Given the description of an element on the screen output the (x, y) to click on. 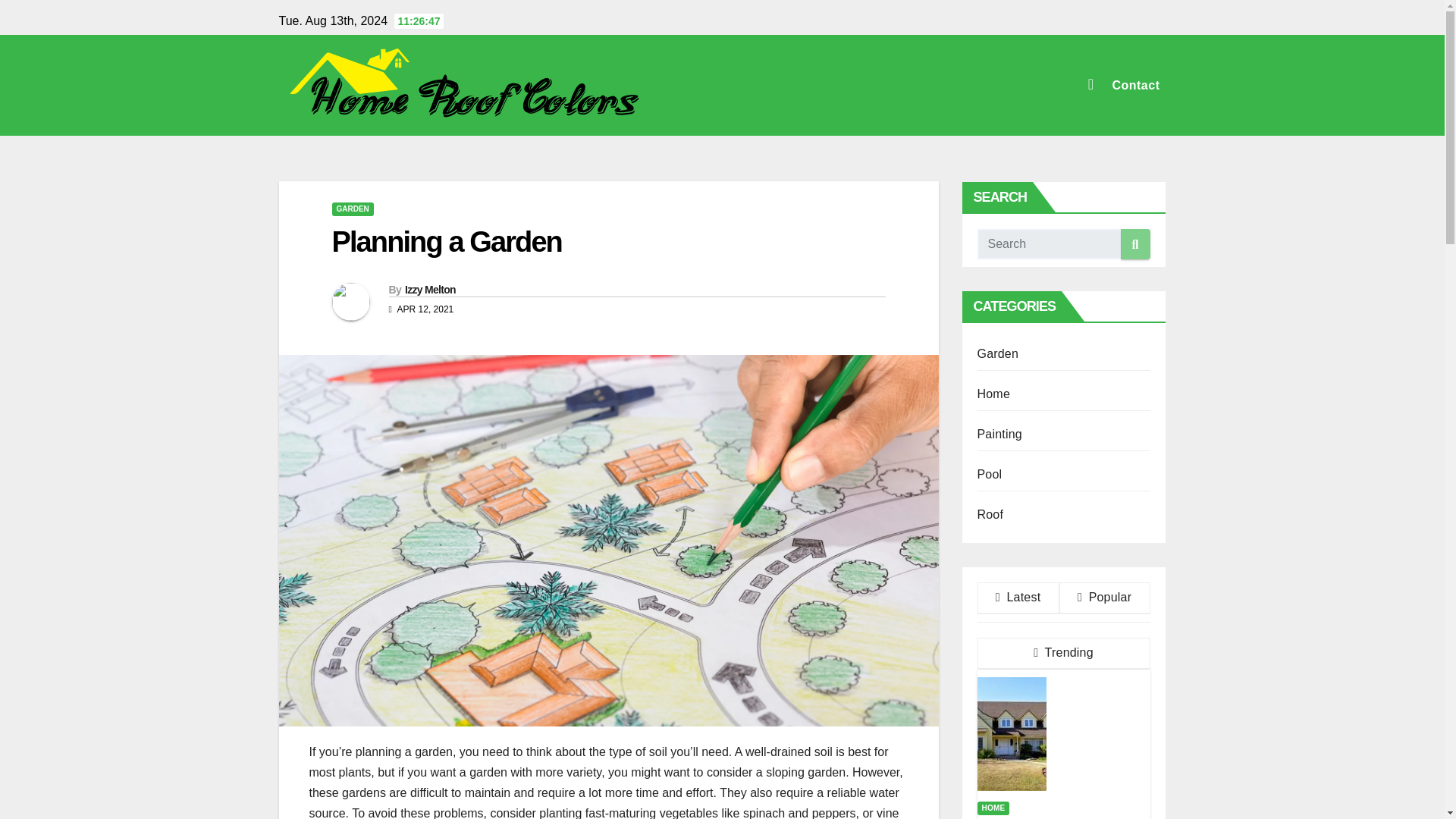
GARDEN (352, 209)
Permalink to: Planning a Garden (446, 241)
Trending (1063, 653)
Pool (988, 473)
Popular (1104, 598)
Roof (989, 513)
Garden (996, 353)
Painting (999, 433)
Home (992, 393)
Latest (1017, 598)
